Given the description of an element on the screen output the (x, y) to click on. 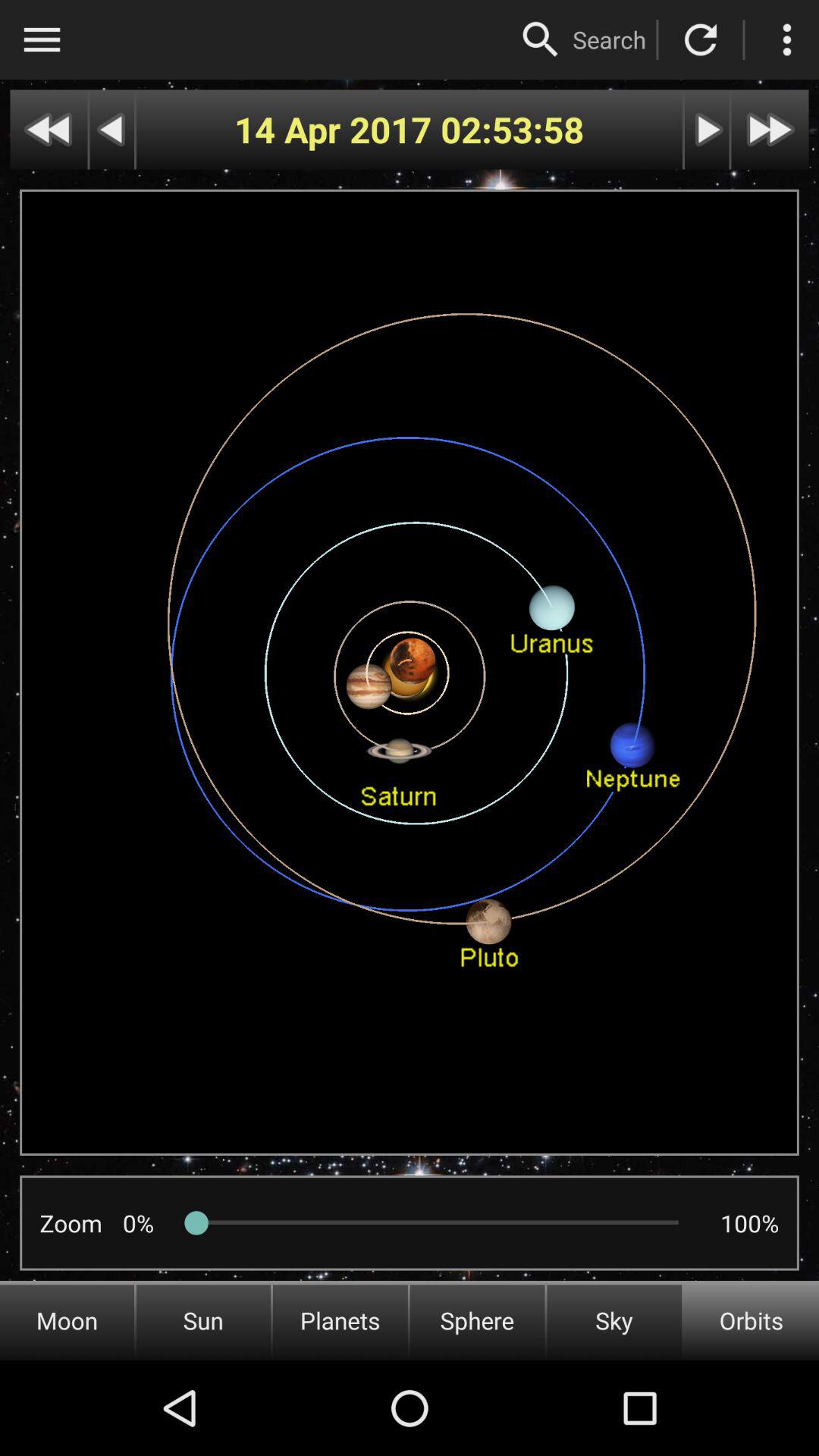
open menu (41, 39)
